Given the description of an element on the screen output the (x, y) to click on. 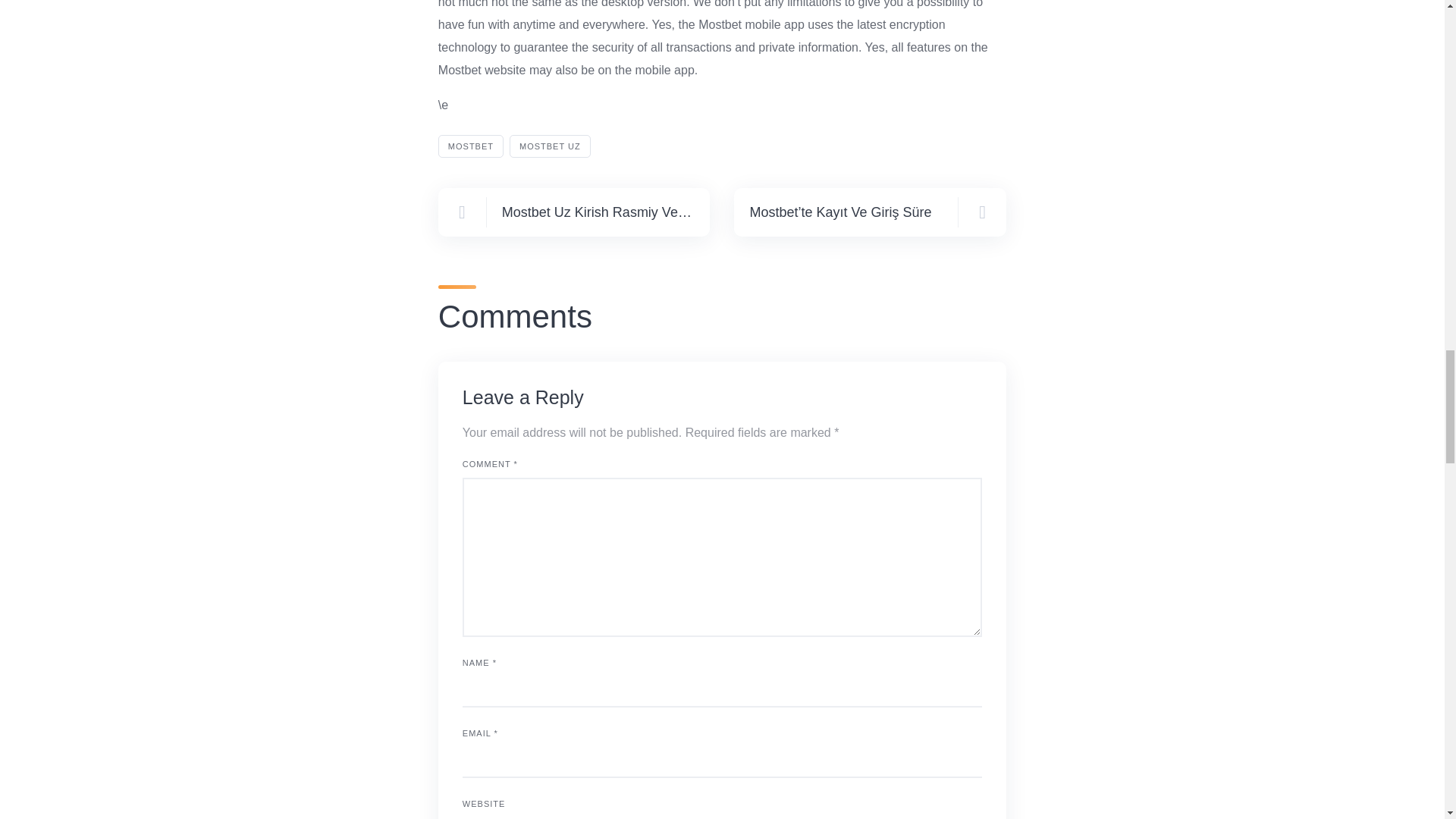
MOSTBET (470, 146)
MOSTBET UZ (550, 146)
